Given the description of an element on the screen output the (x, y) to click on. 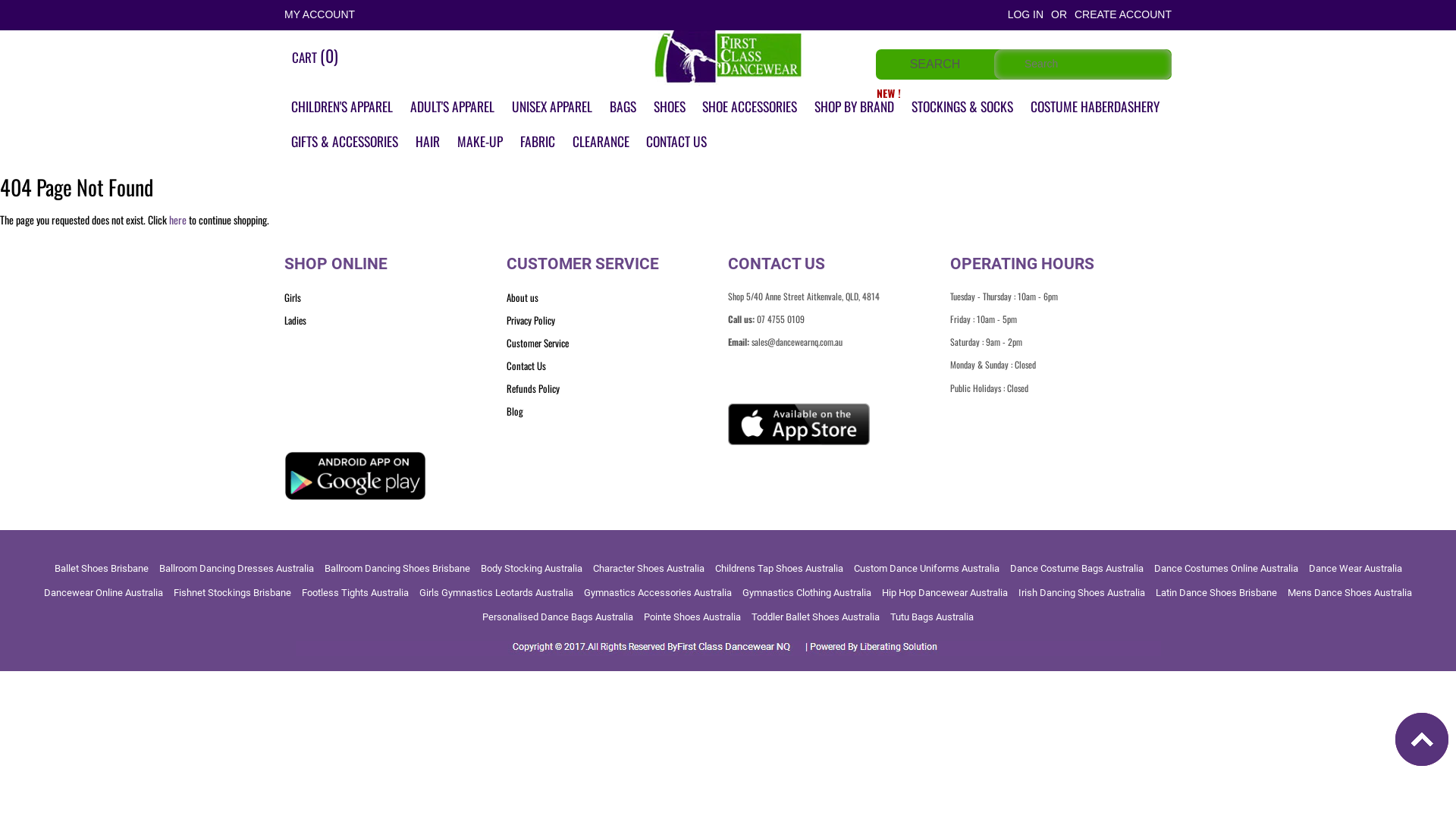
Custom Dance Uniforms Australia Element type: text (926, 568)
Tutu Bags Australia Element type: text (931, 616)
MAKE-UP Element type: text (479, 141)
CHILDREN'S APPAREL Element type: text (341, 106)
SHOE ACCESSORIES Element type: text (749, 106)
About us Element type: text (617, 298)
Mens Dance Shoes Australia Element type: text (1349, 592)
Dancewear Online Australia Element type: text (103, 592)
Character Shoes Australia Element type: text (648, 568)
Pointe Shoes Australia Element type: text (691, 616)
Gymnastics Clothing Australia Element type: text (806, 592)
CONTACT US Element type: text (676, 141)
here Element type: text (177, 219)
Gymnastics Accessories Australia Element type: text (657, 592)
COSTUME HABERDASHERY Element type: text (1094, 106)
Ballroom Dancing Shoes Brisbane Element type: text (397, 568)
LOG IN Element type: text (1025, 14)
UNISEX APPAREL Element type: text (552, 106)
Girls Gymnastics Leotards Australia Element type: text (496, 592)
Fishnet Stockings Brisbane Element type: text (232, 592)
Refunds Policy Element type: text (617, 389)
SEARCH Element type: text (934, 64)
Toddler Ballet Shoes Australia Element type: text (815, 616)
FABRIC Element type: text (537, 141)
Ladies Element type: text (395, 321)
Personalised Dance Bags Australia Element type: text (557, 616)
Contact Us Element type: text (617, 367)
Dance Costumes Online Australia Element type: text (1226, 568)
Latin Dance Shoes Brisbane Element type: text (1216, 592)
CLEARANCE Element type: text (600, 141)
SHOP BY BRAND Element type: text (853, 106)
Customer Service Element type: text (617, 344)
CREATE ACCOUNT Element type: text (1122, 14)
STOCKINGS & SOCKS Element type: text (961, 106)
Ballet Shoes Brisbane Element type: text (101, 568)
BAGS Element type: text (622, 106)
Childrens Tap Shoes Australia Element type: text (778, 568)
HAIR Element type: text (427, 141)
SHOES Element type: text (668, 106)
Body Stocking Australia Element type: text (531, 568)
Blog Element type: text (617, 412)
Privacy Policy Element type: text (617, 321)
Dance Costume Bags Australia Element type: text (1076, 568)
CART (0) Element type: text (314, 55)
Girls Element type: text (395, 298)
GIFTS & ACCESSORIES Element type: text (344, 141)
Hip Hop Dancewear Australia Element type: text (944, 592)
Ballroom Dancing Dresses Australia Element type: text (236, 568)
ADULT'S APPAREL Element type: text (452, 106)
Footless Tights Australia Element type: text (354, 592)
Irish Dancing Shoes Australia Element type: text (1081, 592)
Dance Wear Australia Element type: text (1355, 568)
